Given the description of an element on the screen output the (x, y) to click on. 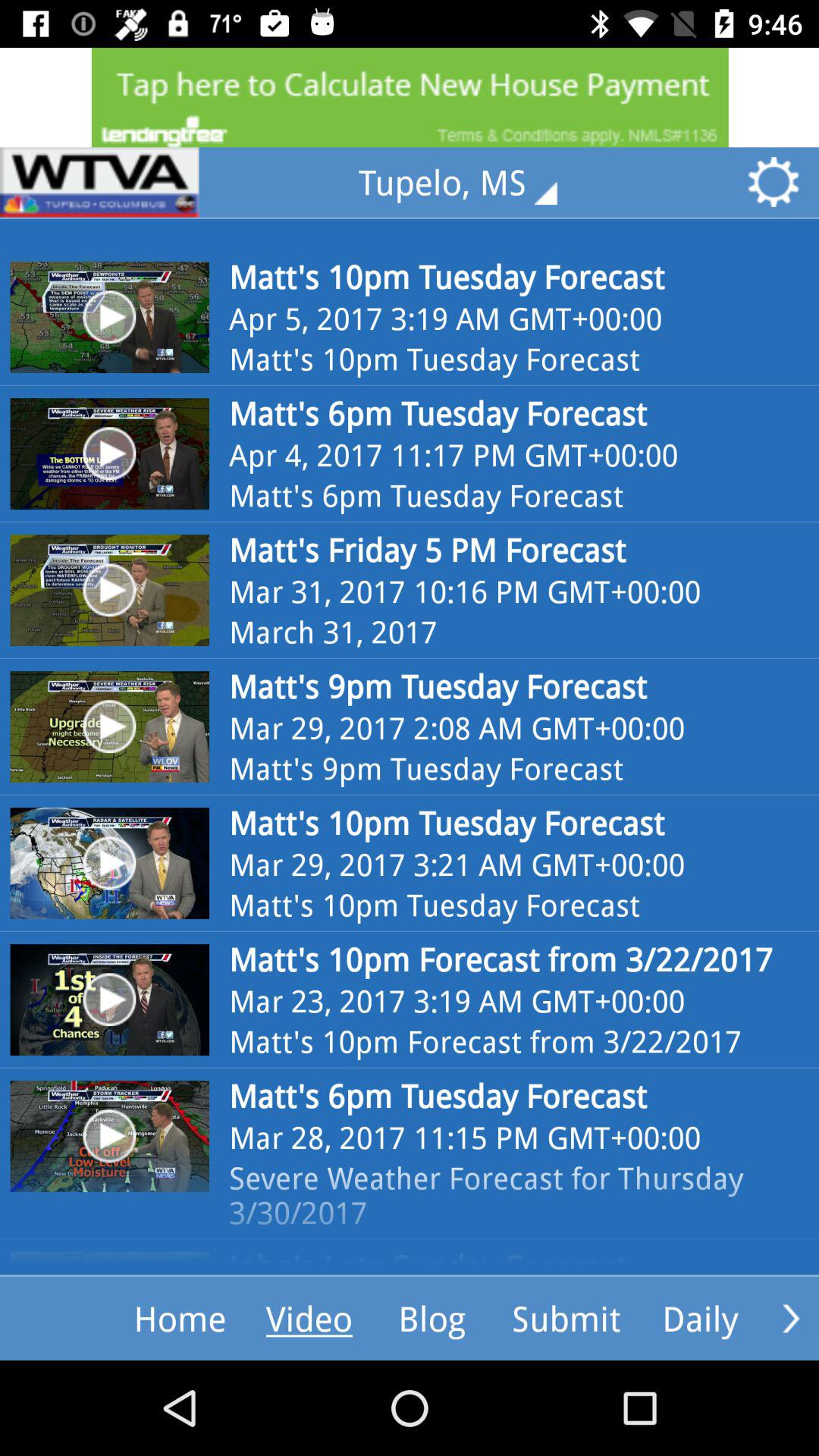
go to sponser website (99, 182)
